Given the description of an element on the screen output the (x, y) to click on. 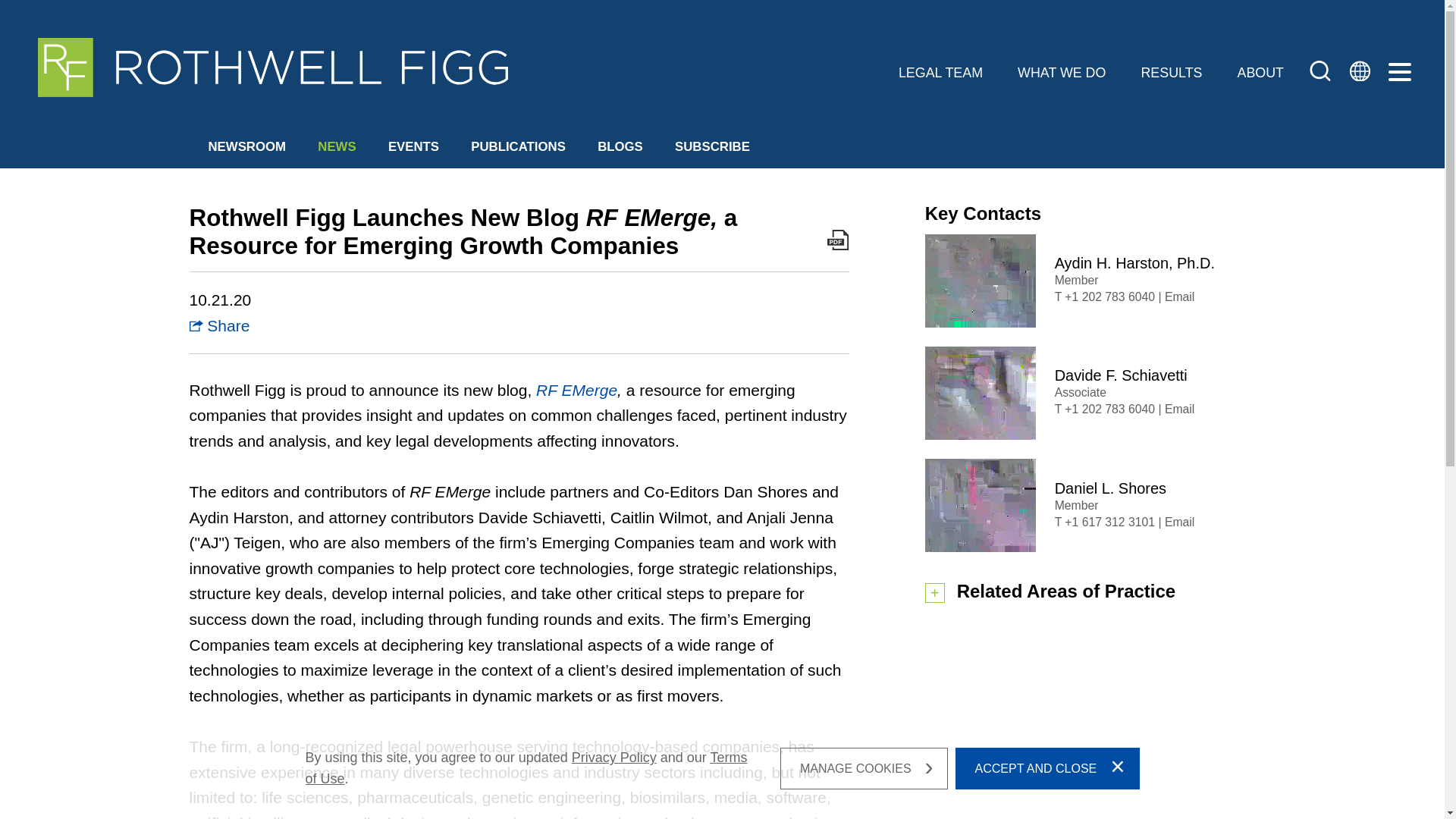
Share (219, 325)
Cookie Settings (655, 20)
LANGUAGE (1358, 69)
Menu (671, 20)
ABOUT (1260, 72)
Menu (1399, 72)
LEGAL TEAM (940, 72)
WHAT WE DO (1061, 72)
LANGUAGE (1358, 72)
Main Menu (671, 20)
